Given the description of an element on the screen output the (x, y) to click on. 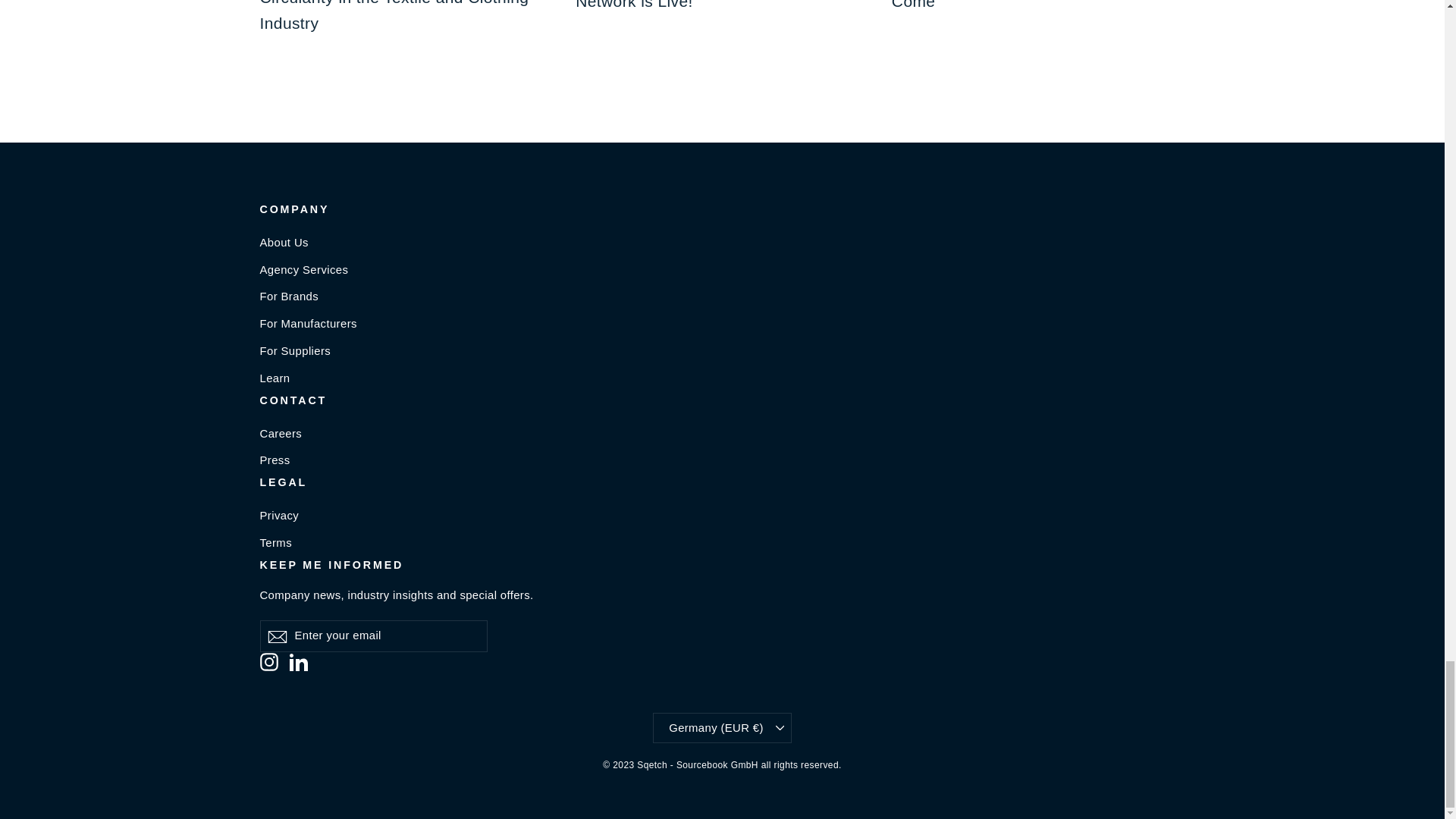
Sqetch on Instagram (268, 661)
Sqetch on LinkedIn (298, 661)
